Given the description of an element on the screen output the (x, y) to click on. 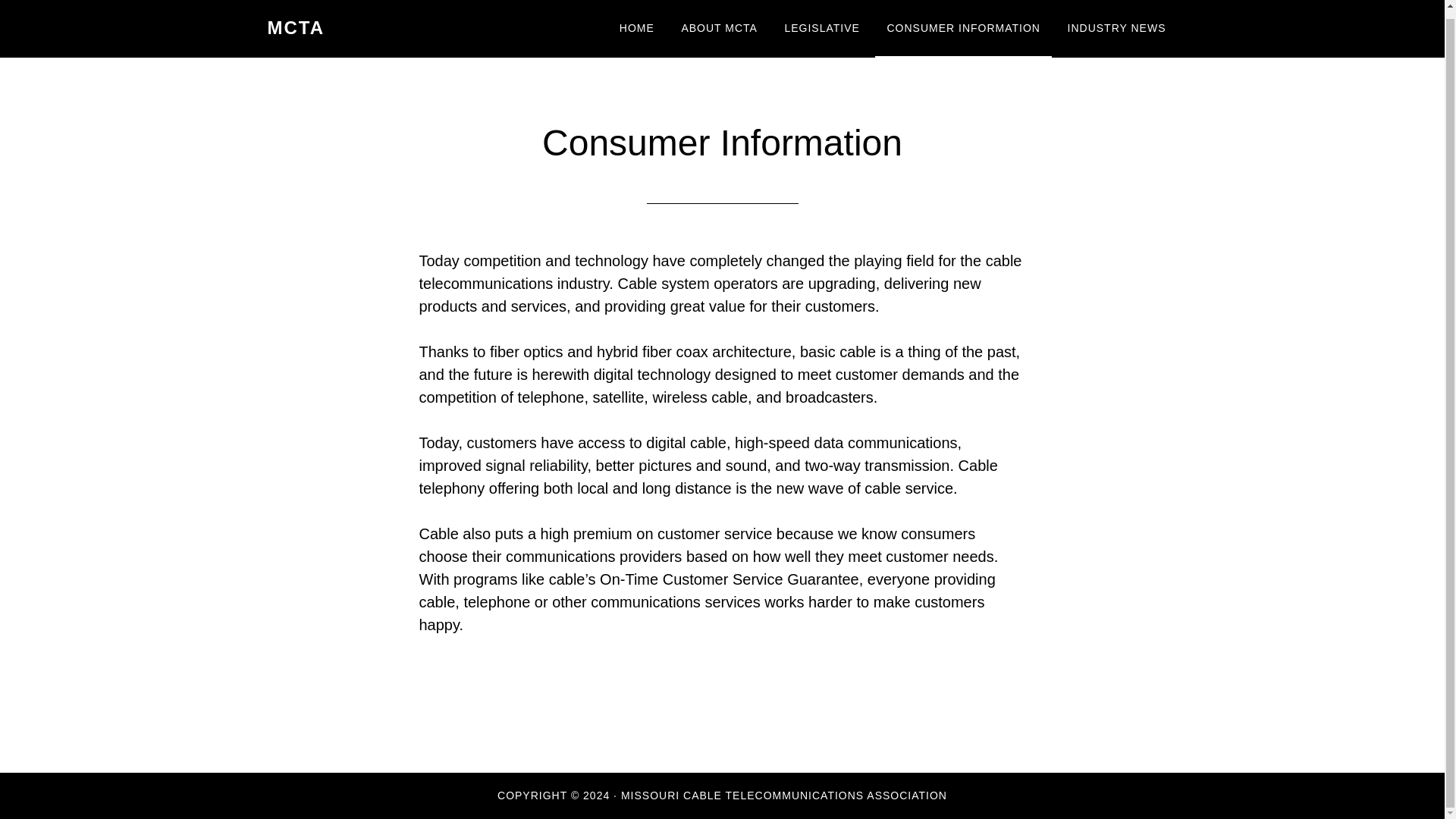
HOME (636, 24)
MCTA (295, 19)
ABOUT MCTA (718, 24)
CONSUMER INFORMATION (963, 24)
INDUSTRY NEWS (1117, 24)
LEGISLATIVE (821, 24)
